Given the description of an element on the screen output the (x, y) to click on. 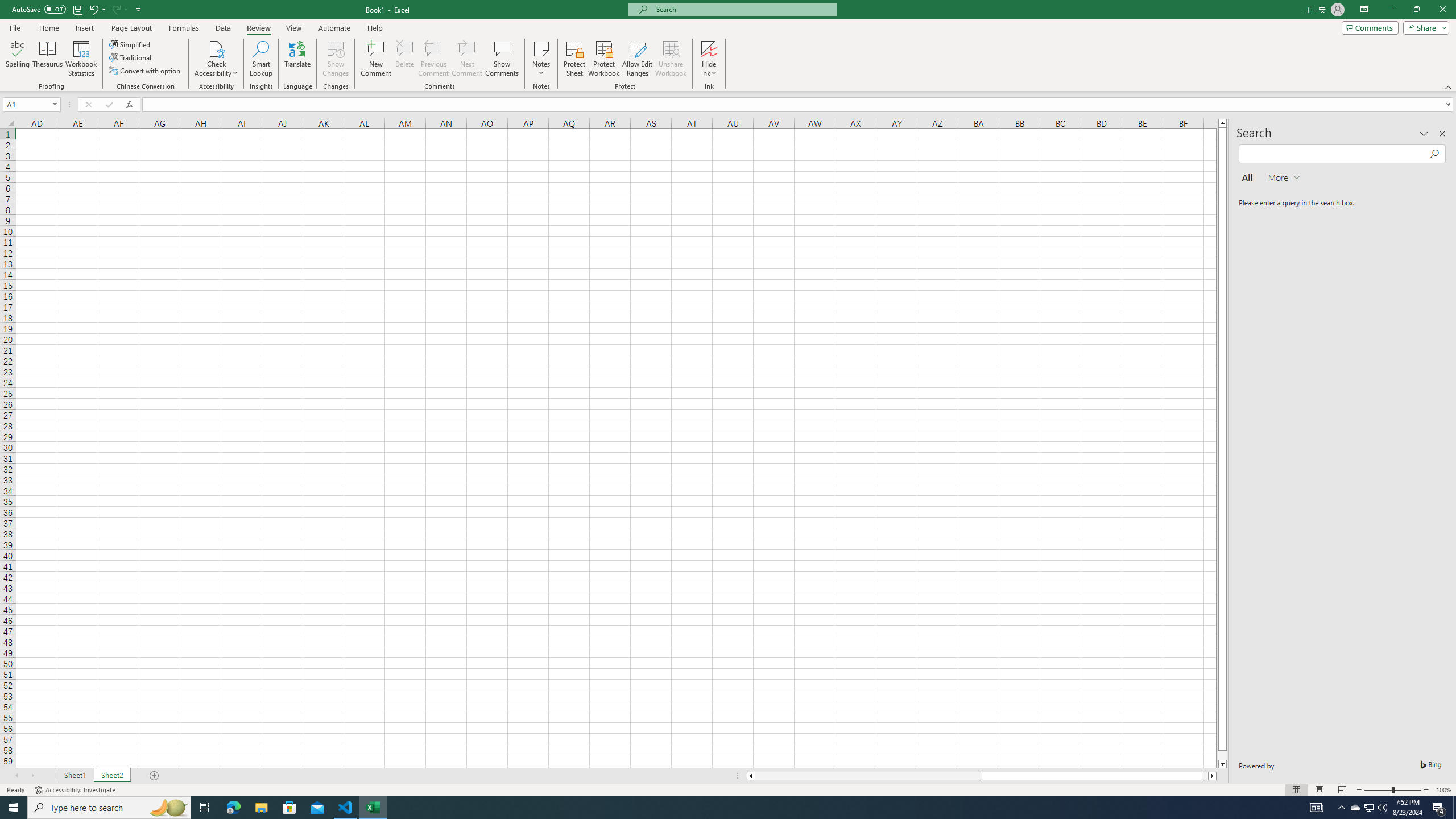
Thesaurus... (47, 58)
Translate (297, 58)
Protect Sheet... (574, 58)
Next Comment (466, 58)
Protect Workbook... (603, 58)
